Given the description of an element on the screen output the (x, y) to click on. 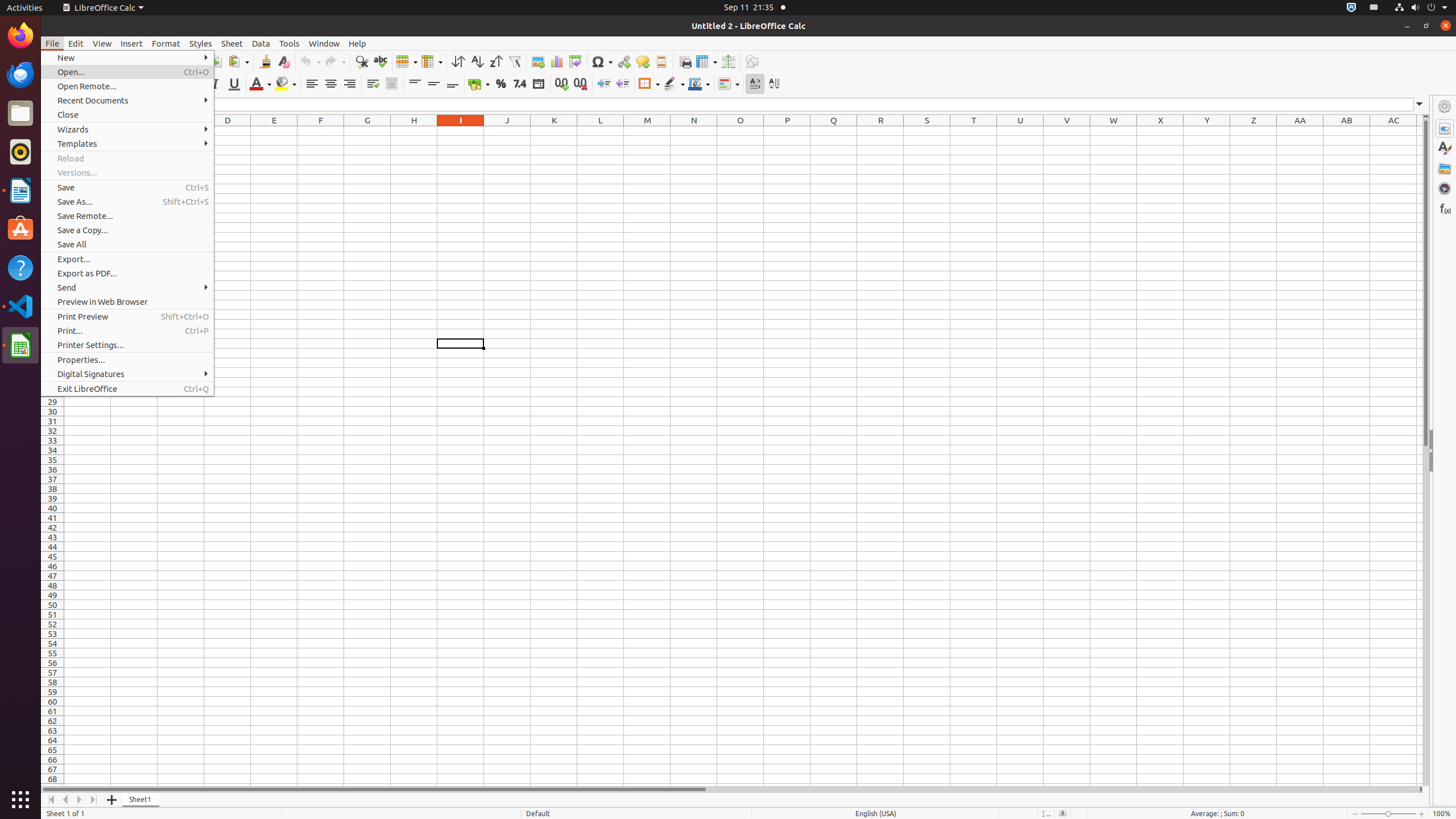
I1 Element type: table-cell (460, 130)
Row Element type: push-button (406, 61)
Styles Element type: radio-button (1444, 148)
Clone Element type: push-button (264, 61)
Split Window Element type: push-button (727, 61)
